Given the description of an element on the screen output the (x, y) to click on. 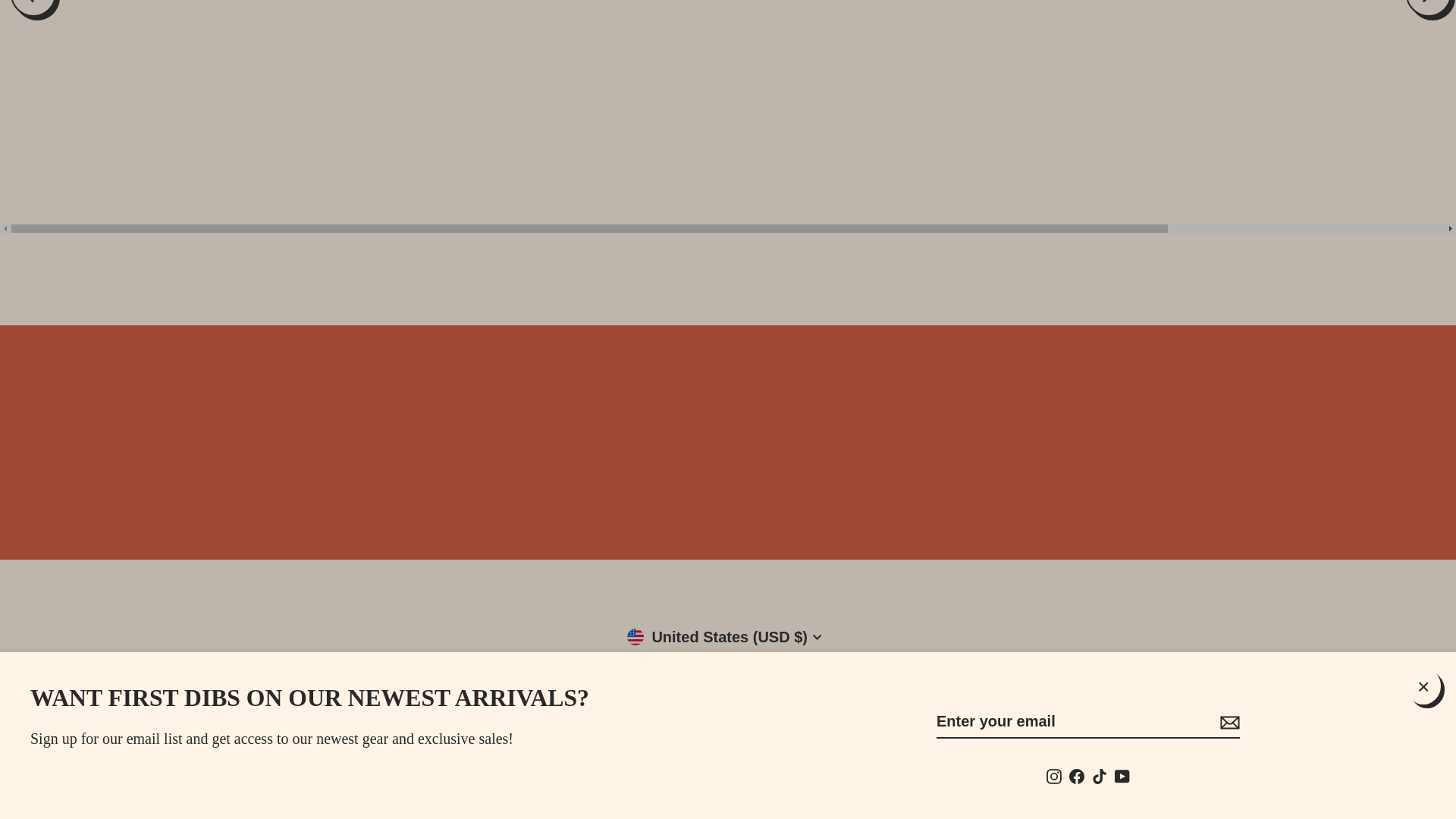
Apple Pay (587, 779)
Meta Pay (692, 779)
Google Pay (727, 779)
Diners Club (622, 779)
Discover (657, 779)
American Express (552, 779)
